Given the description of an element on the screen output the (x, y) to click on. 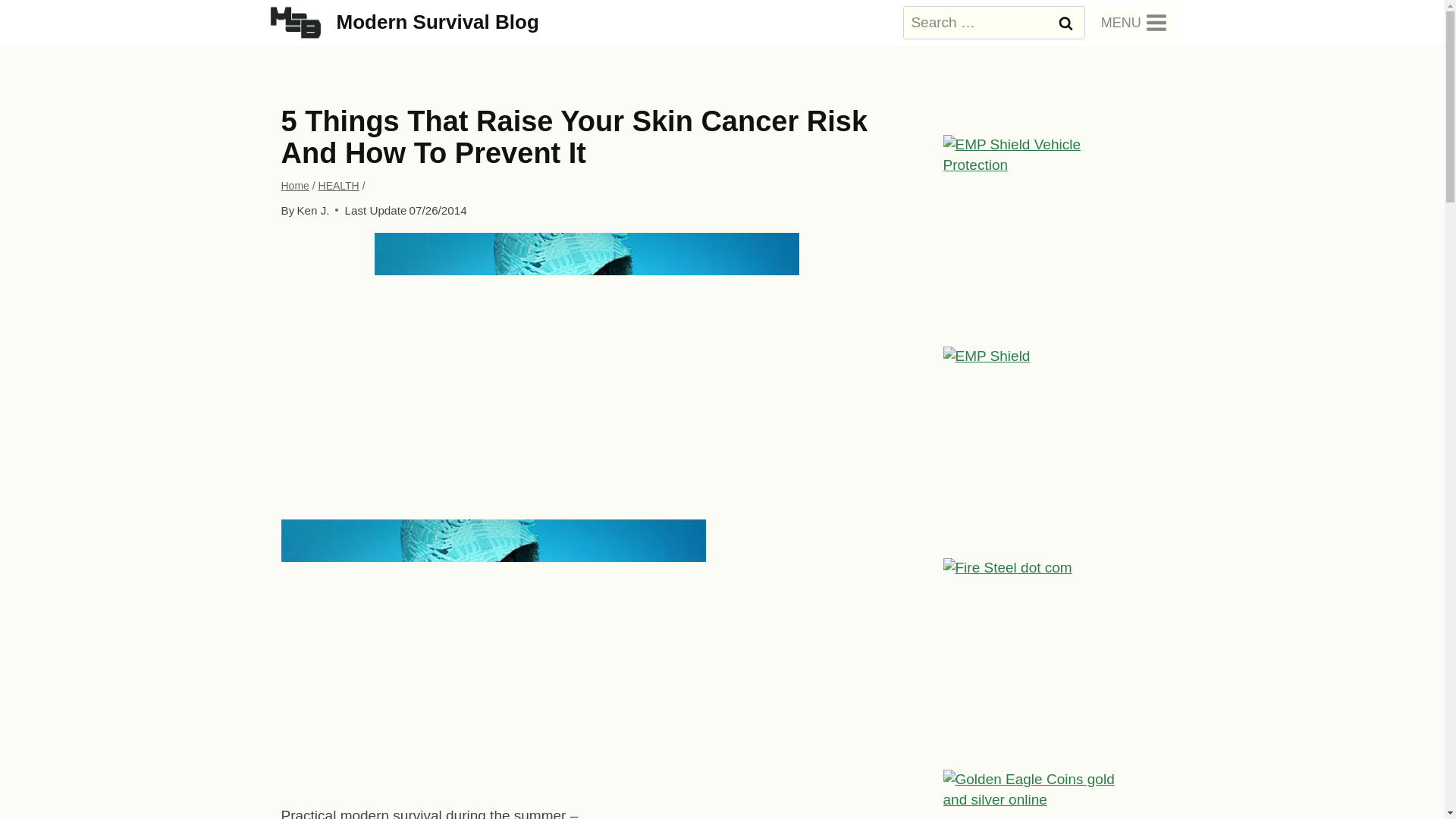
Search (1065, 22)
Search (1065, 22)
Search (1065, 22)
MENU (1134, 22)
Home (294, 185)
Modern Survival Blog (402, 21)
HEALTH (338, 185)
